Given the description of an element on the screen output the (x, y) to click on. 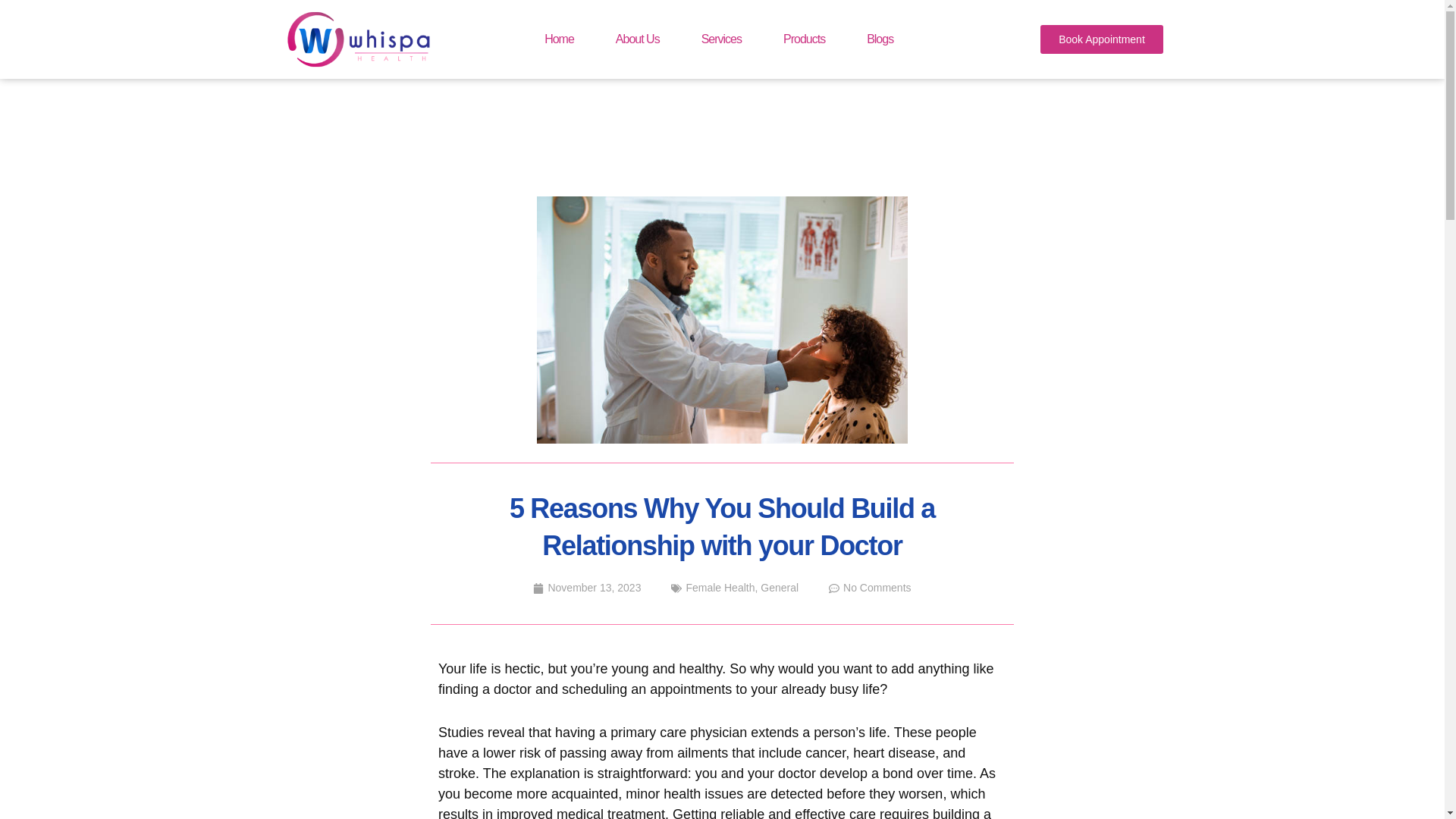
Skip to content (11, 31)
Book Appointment (1102, 39)
About Us (637, 39)
Services (721, 39)
General (778, 587)
Female Health (719, 587)
Blogs (879, 39)
Home (559, 39)
November 13, 2023 (586, 588)
No Comments (869, 588)
